Given the description of an element on the screen output the (x, y) to click on. 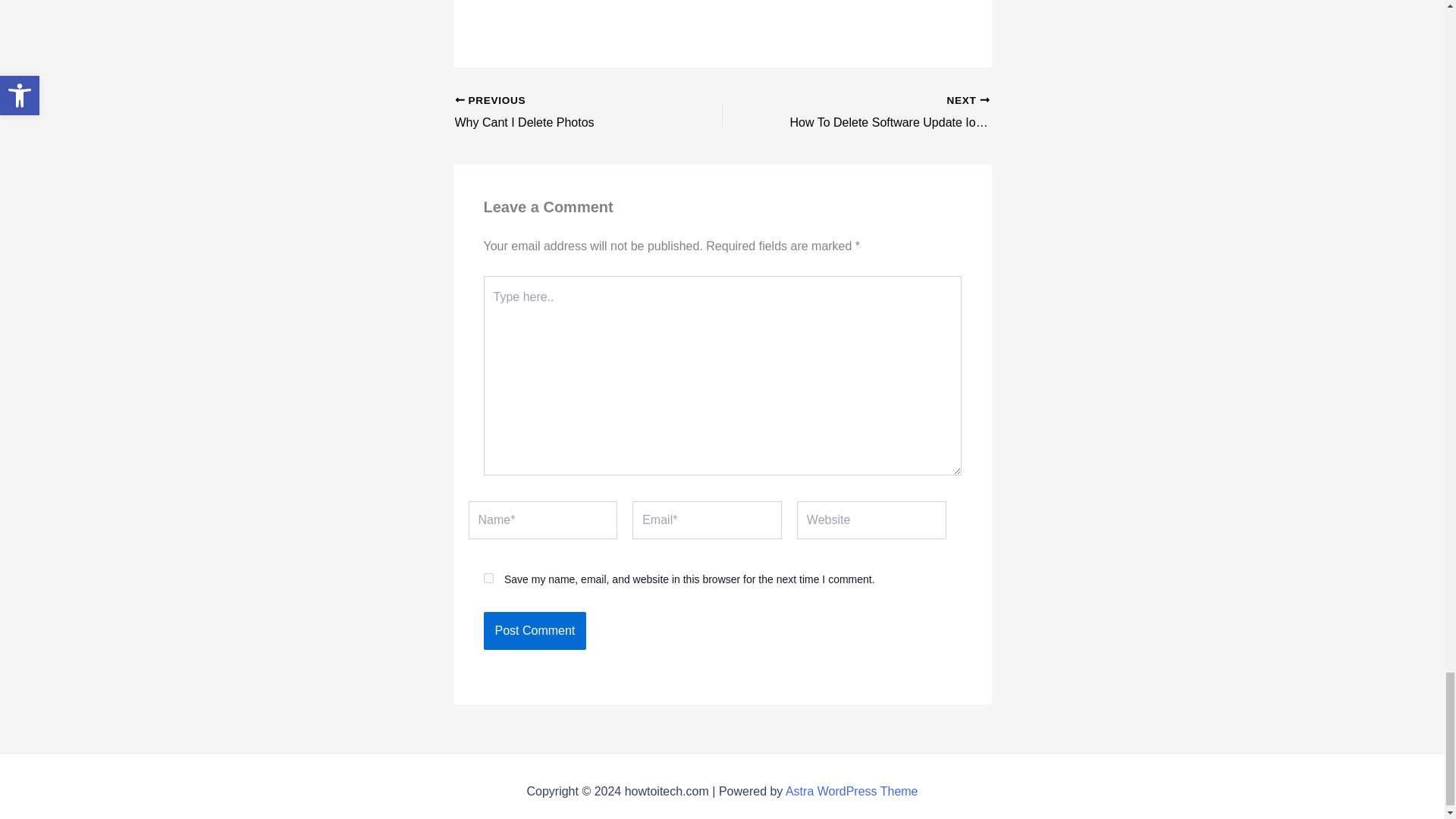
yes (488, 578)
Why Cant I Delete Photos (561, 112)
How To Delete Software Update Ios 15 (882, 112)
Post Comment (534, 630)
